Given the description of an element on the screen output the (x, y) to click on. 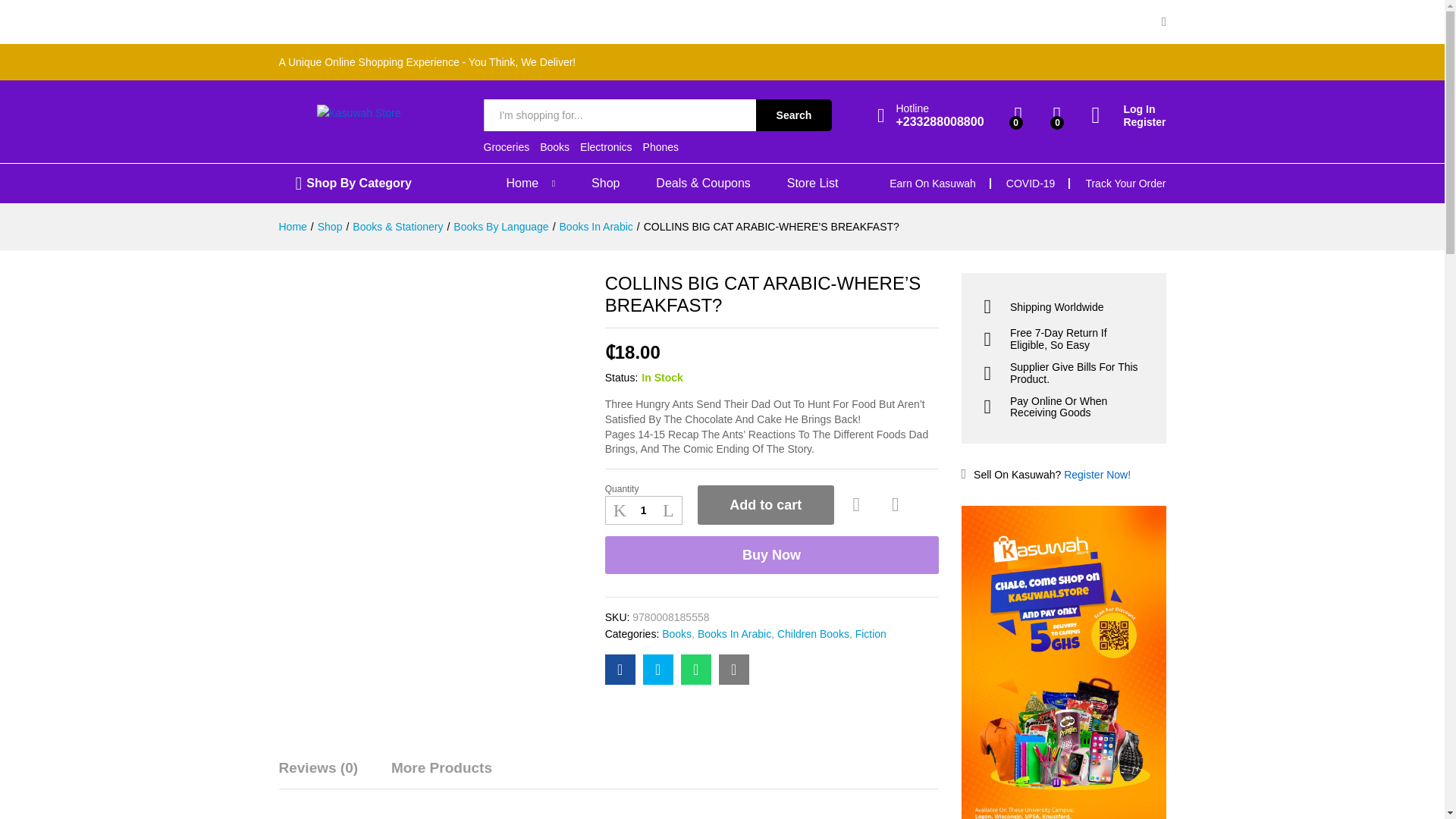
Qty (643, 510)
Compare (895, 504)
1 (643, 510)
Add to wishlist (857, 504)
